Given the description of an element on the screen output the (x, y) to click on. 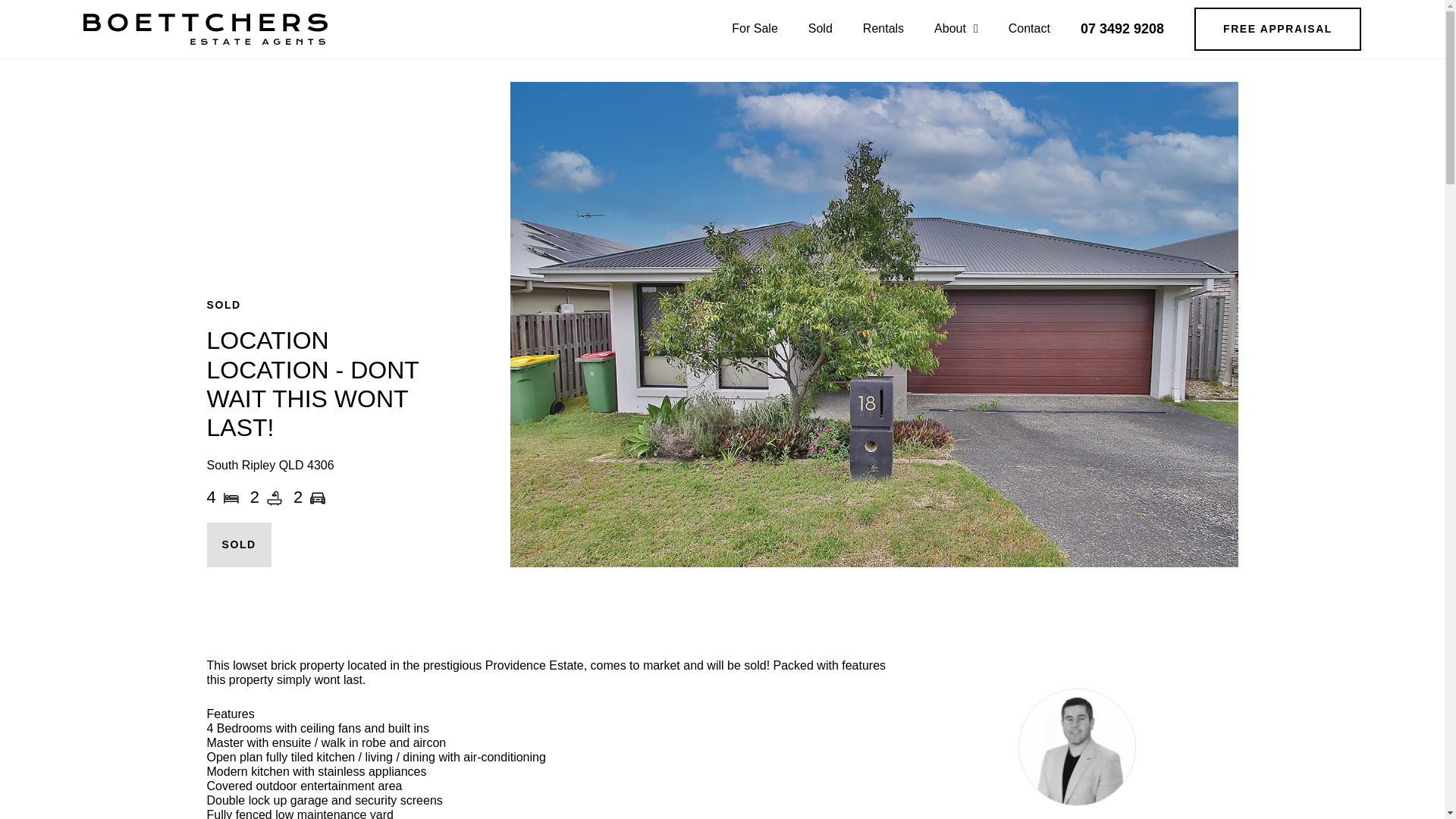
Bedrooms (231, 497)
Bathrooms (274, 497)
Parking Spaces (317, 497)
07 3492 9208 (1121, 28)
Contact (1029, 28)
About (956, 28)
Sold (820, 28)
For Sale (754, 28)
Rentals (883, 28)
FREE APPRAISAL (1277, 28)
